Given the description of an element on the screen output the (x, y) to click on. 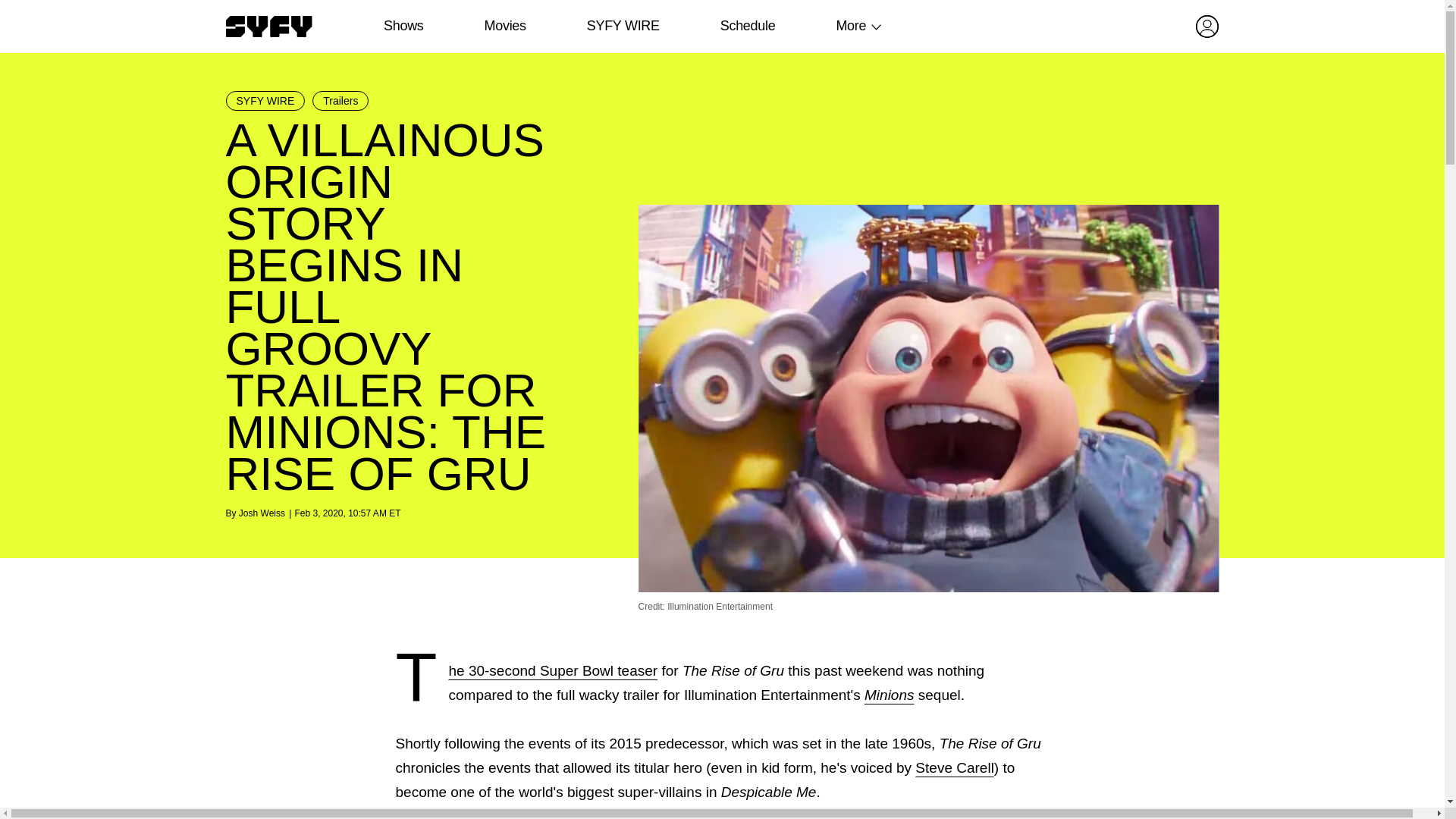
SYFY WIRE (265, 100)
Minions (889, 694)
Trailers (340, 100)
The 30-second Super Bowl teaser (553, 670)
Schedule (746, 26)
Shows (403, 26)
SYFY WIRE (622, 26)
Josh Weiss (261, 512)
Steve Carell (954, 767)
Movies (504, 26)
More (850, 26)
